Given the description of an element on the screen output the (x, y) to click on. 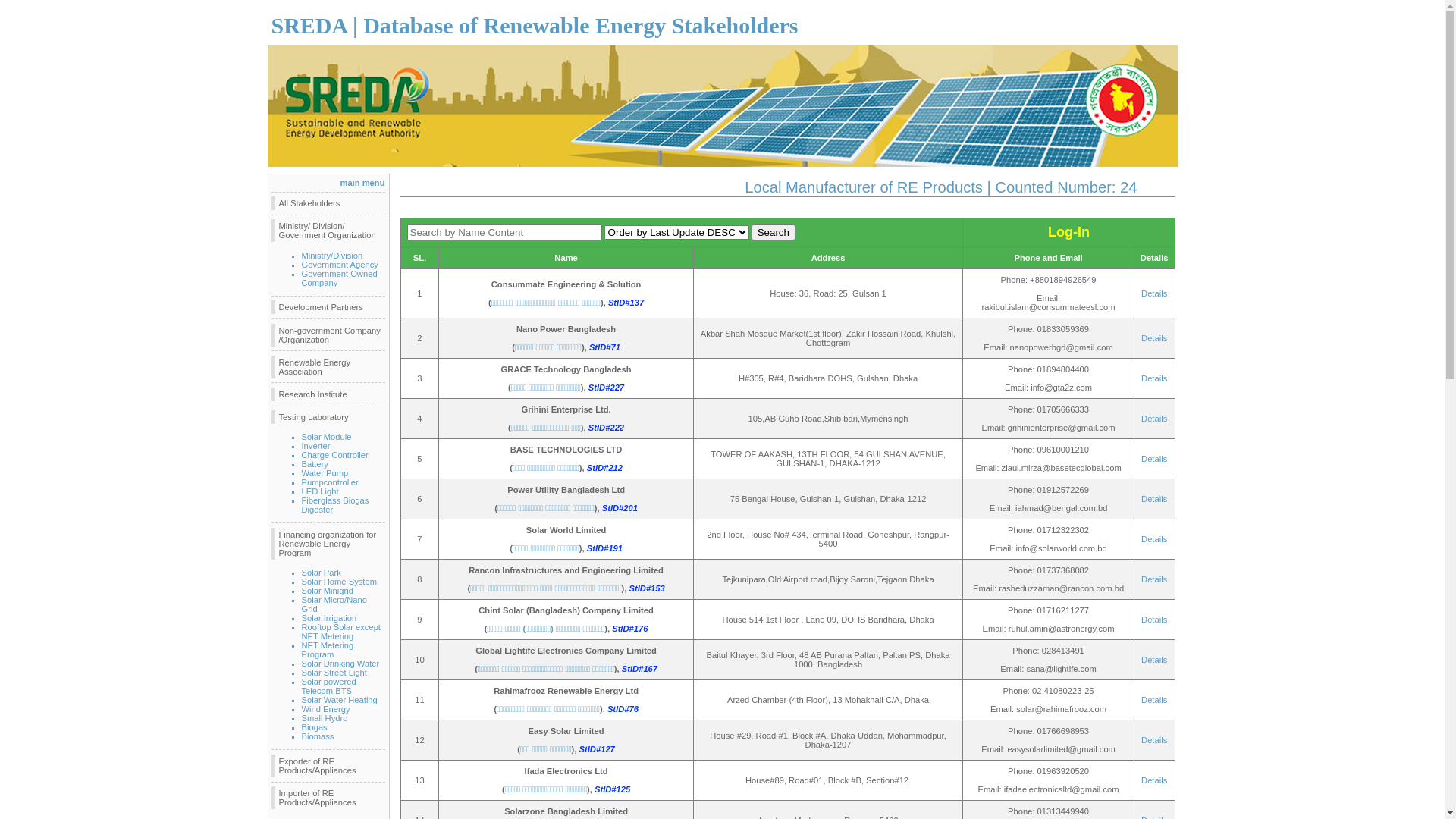
All Stakeholders Element type: text (328, 203)
Charge Controller Element type: text (334, 454)
Government Owned Company Element type: text (339, 278)
Development Partners Element type: text (328, 306)
Financing organization for Renewable Energy Program Element type: text (328, 543)
Solar Module Element type: text (326, 436)
Pumpcontroller Element type: text (329, 481)
Solar Micro/Nano Grid Element type: text (334, 604)
Biogas Element type: text (314, 726)
Search Element type: text (773, 232)
Details Element type: text (1154, 337)
Renewable Energy Association Element type: text (328, 366)
Details Element type: text (1154, 659)
Log-In Element type: text (1068, 233)
NET Metering Program Element type: text (327, 649)
Solar Drinking Water Element type: text (340, 663)
Non-government Company /Organization Element type: text (328, 334)
Solar Street Light Element type: text (334, 672)
Biomass Element type: text (317, 735)
Battery Element type: text (314, 463)
Solar Home System Element type: text (338, 581)
main menu Element type: text (361, 182)
Details Element type: text (1154, 458)
Ministry/ Division/ Government Organization Element type: text (328, 230)
Solar Minigrid Element type: text (327, 590)
Details Element type: text (1154, 498)
Details Element type: text (1154, 538)
Details Element type: text (1154, 377)
LED Light Element type: text (319, 490)
Details Element type: text (1154, 779)
Details Element type: text (1154, 418)
Ministry/Division Element type: text (332, 255)
Wind Energy Element type: text (325, 708)
Government Agency Element type: text (339, 264)
Small Hydro Element type: text (324, 717)
Inverter Element type: text (315, 445)
Exporter of RE Products/Appliances Element type: text (328, 765)
Testing Laboratory Element type: text (328, 416)
Details Element type: text (1154, 578)
Details Element type: text (1154, 293)
Water Pump Element type: text (324, 472)
Rooftop Solar except NET Metering Element type: text (340, 631)
Fiberglass Biogas Digester Element type: text (335, 504)
Details Element type: text (1154, 699)
Solar Irrigation Element type: text (329, 617)
Details Element type: text (1154, 619)
Importer of RE Products/Appliances Element type: text (328, 797)
Research Institute Element type: text (328, 394)
Solar Water Heating Element type: text (339, 699)
Solar powered Telecom BTS Element type: text (328, 686)
Solar Park Element type: text (321, 572)
Details Element type: text (1154, 739)
